Given the description of an element on the screen output the (x, y) to click on. 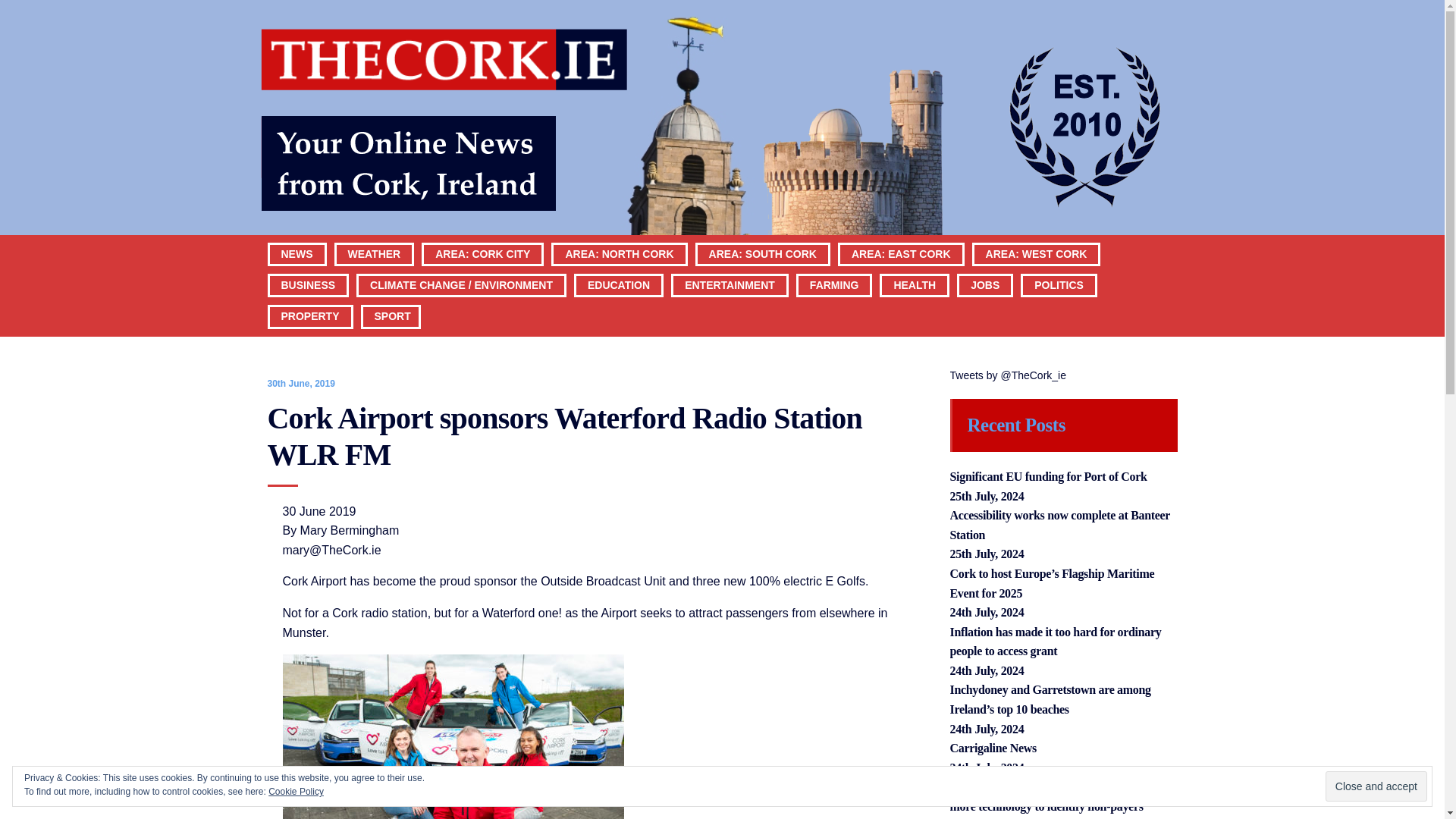
AREA: SOUTH CORK (762, 253)
WEATHER (373, 253)
BUSINESS (307, 284)
Weather (373, 253)
AREA: NORTH CORK (618, 253)
NEWS (297, 253)
AREA: CORK CITY (482, 253)
Close and accept (1375, 786)
AREA: EAST CORK (900, 253)
AREA: WEST CORK (1036, 253)
